Given the description of an element on the screen output the (x, y) to click on. 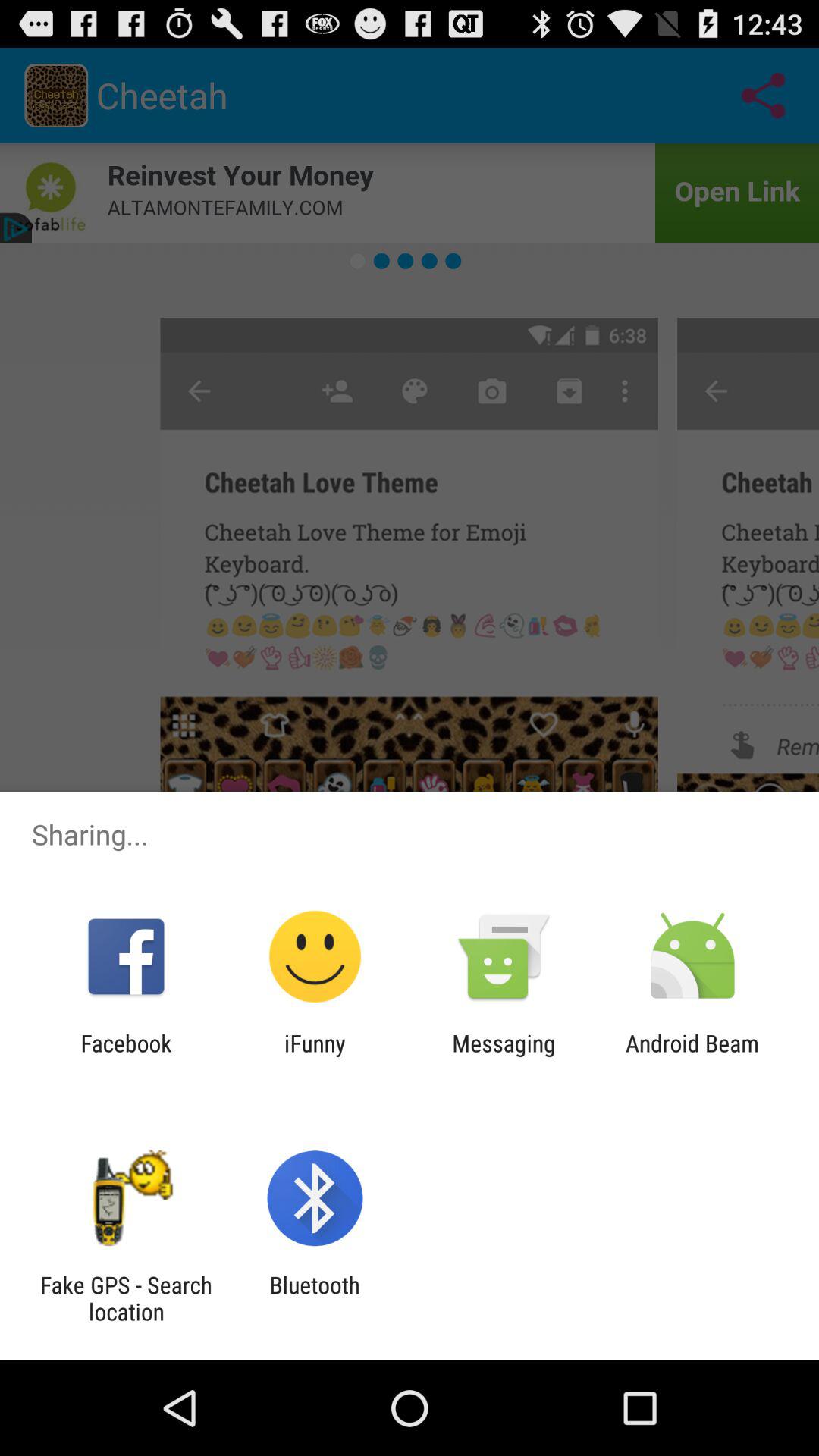
open icon next to messaging item (314, 1056)
